Given the description of an element on the screen output the (x, y) to click on. 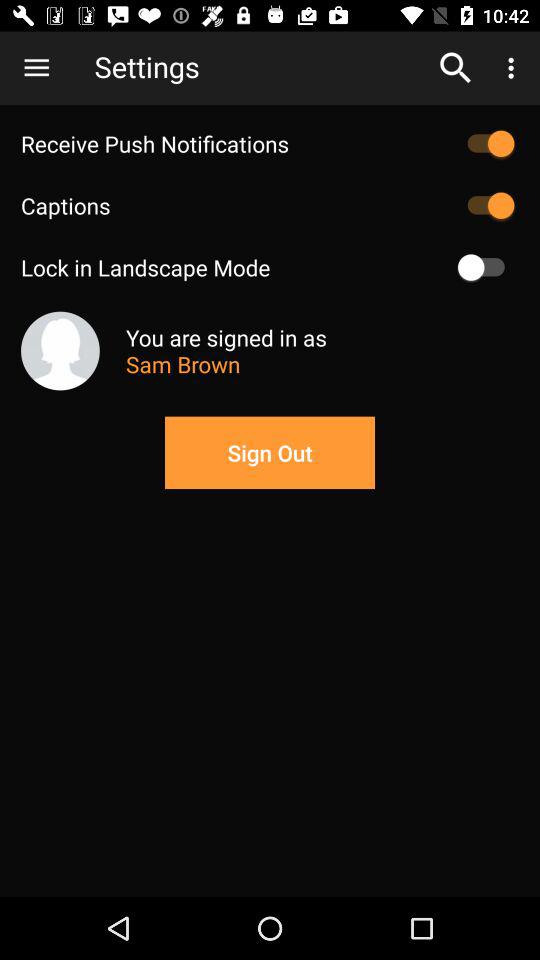
turn on captions (486, 205)
